Given the description of an element on the screen output the (x, y) to click on. 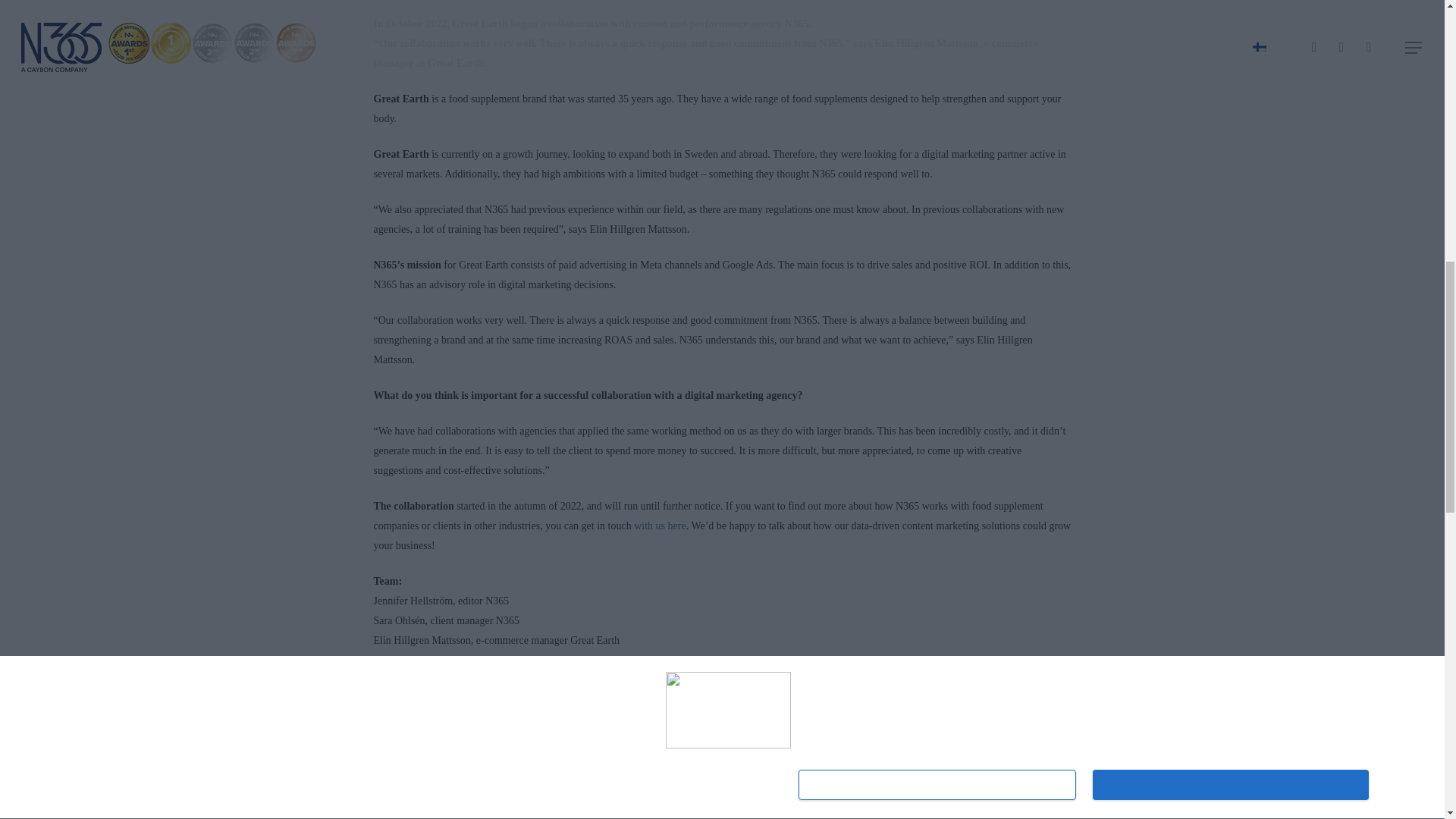
Share (598, 703)
Tweet this (505, 704)
Share this (413, 703)
Tweet (505, 704)
Share this (598, 703)
Share (413, 703)
with us here (659, 525)
